Given the description of an element on the screen output the (x, y) to click on. 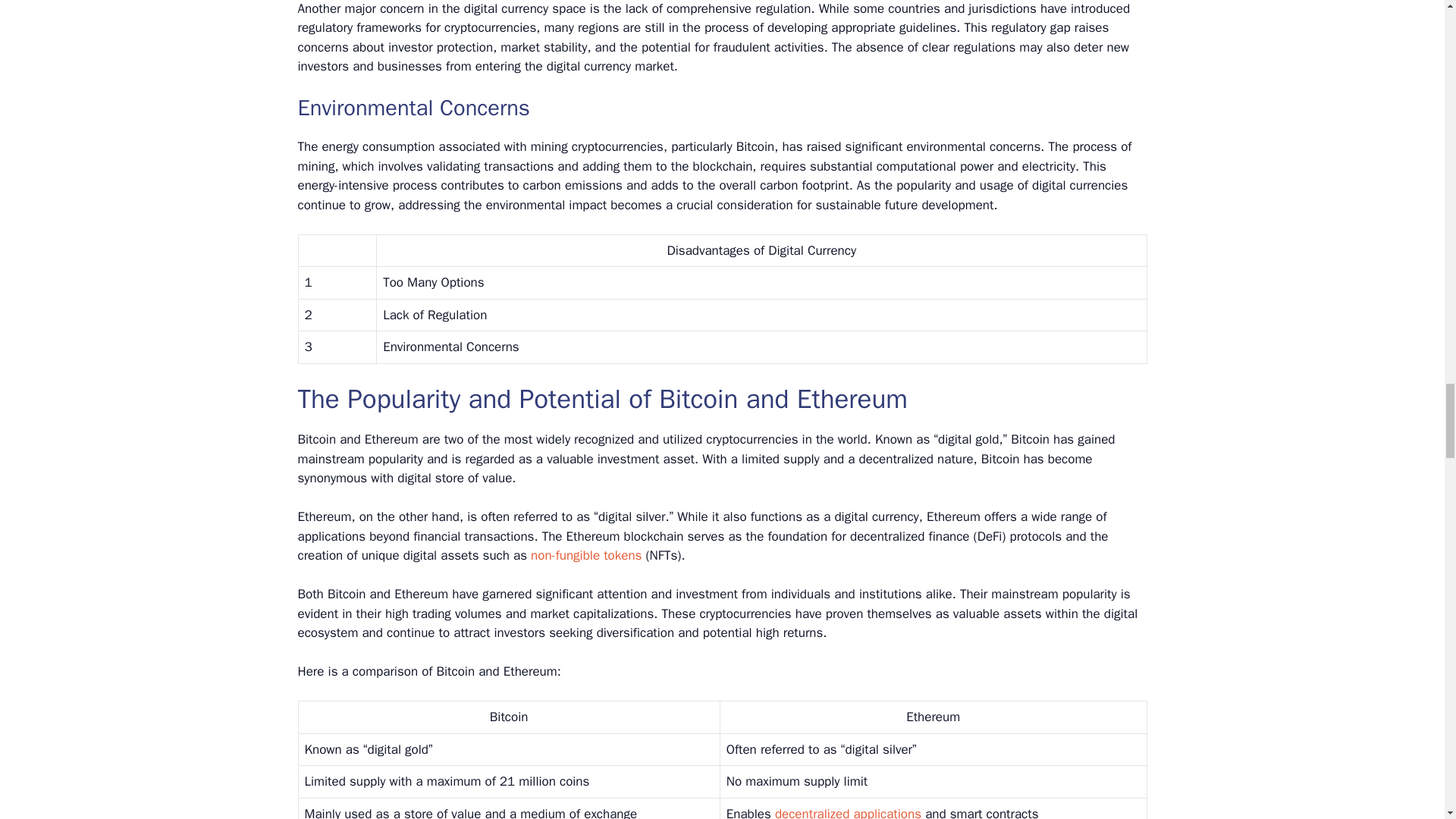
non-fungible tokens (586, 555)
decentralized applications (847, 812)
non-fungible tokens (586, 555)
decentralized applications (847, 812)
